Given the description of an element on the screen output the (x, y) to click on. 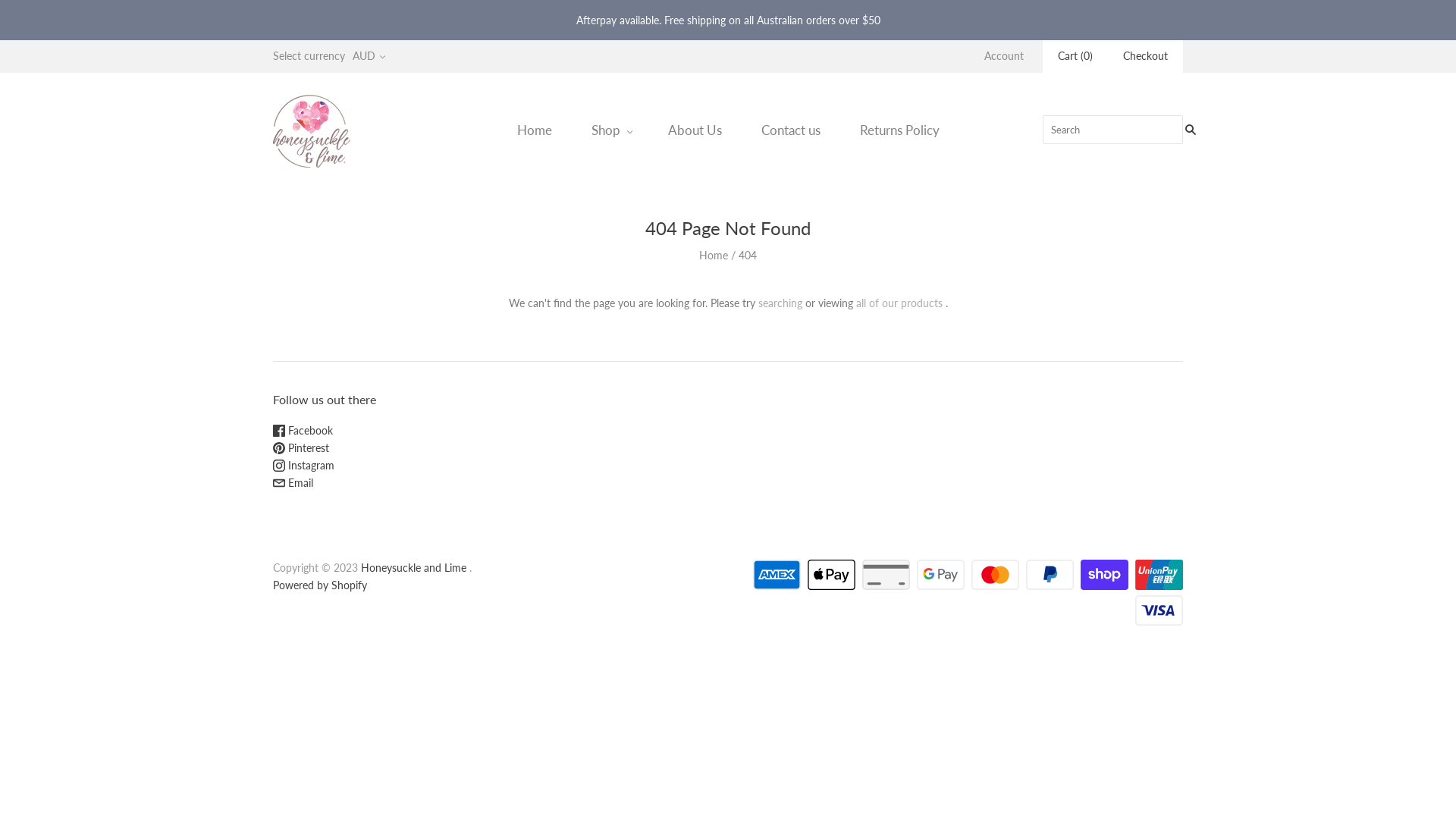
Shop Element type: text (609, 129)
Pinterest Element type: text (301, 447)
searching Element type: text (780, 301)
Powered by Shopify Element type: text (320, 584)
Account Element type: text (1003, 55)
Facebook Element type: text (302, 429)
Contact us Element type: text (790, 129)
Instagram Element type: text (303, 464)
Cart (0) Element type: text (1074, 56)
Home Element type: text (534, 129)
Home Element type: text (713, 254)
About Us Element type: text (693, 129)
Honeysuckle and Lime Element type: text (413, 567)
all of our products Element type: text (898, 301)
Email Element type: text (293, 482)
Returns Policy Element type: text (899, 129)
Checkout Element type: text (1145, 56)
